Given the description of an element on the screen output the (x, y) to click on. 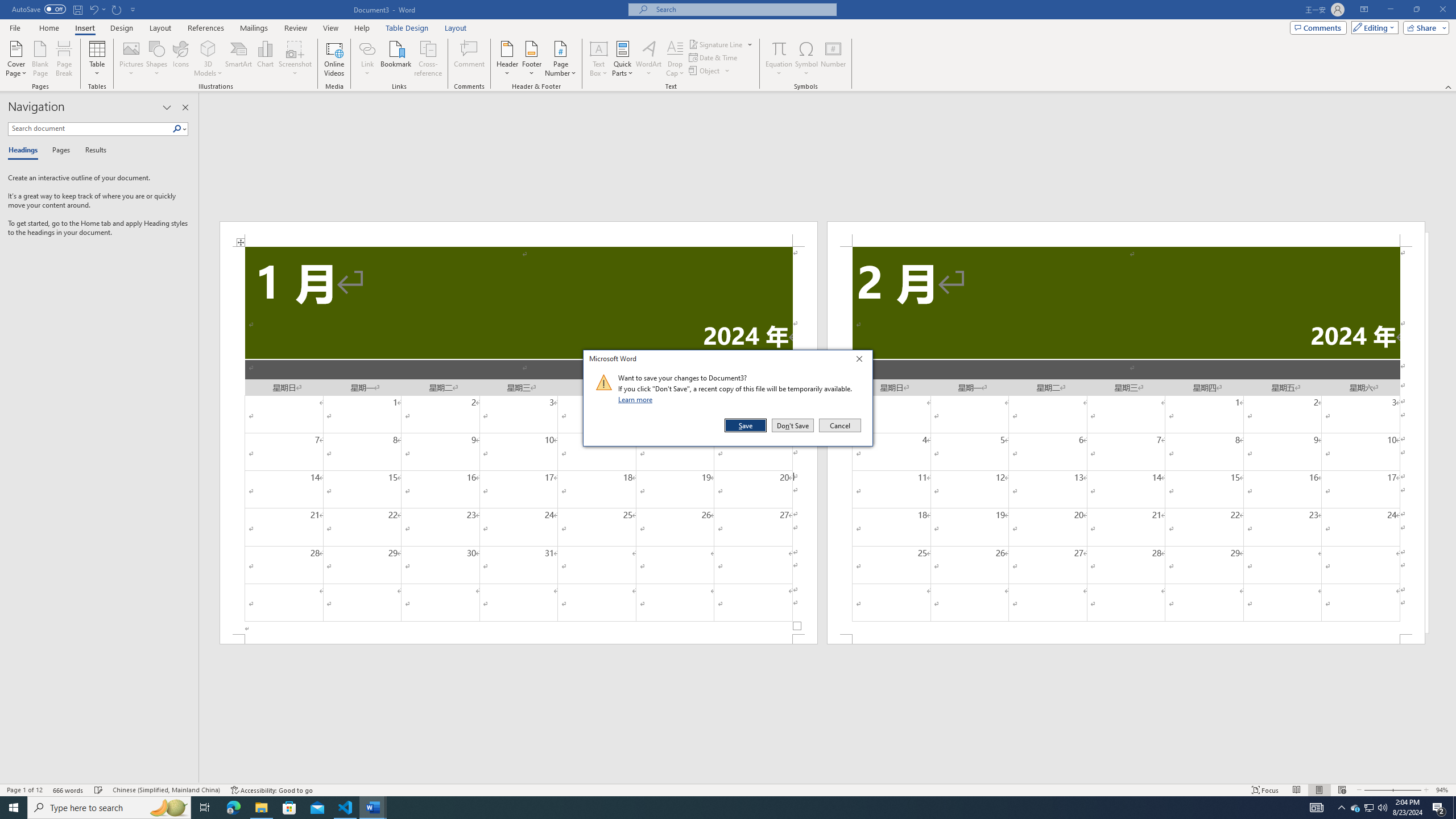
Date & Time... (714, 56)
